Given the description of an element on the screen output the (x, y) to click on. 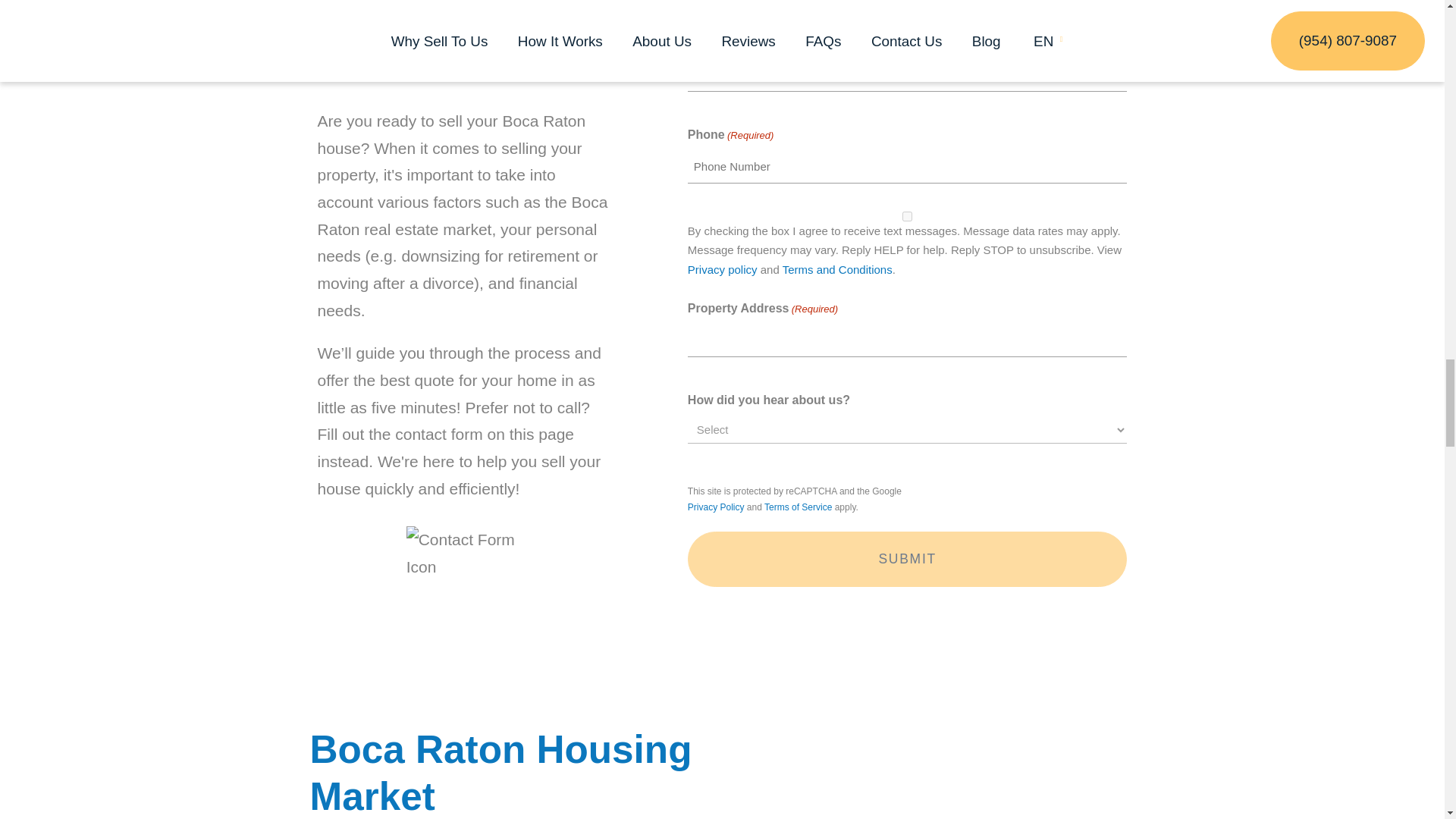
Terms of Service (797, 507)
Submit (906, 559)
Privacy Policy (715, 507)
Submit (906, 559)
Privacy policy (722, 269)
Terms and Conditions (837, 269)
